Given the description of an element on the screen output the (x, y) to click on. 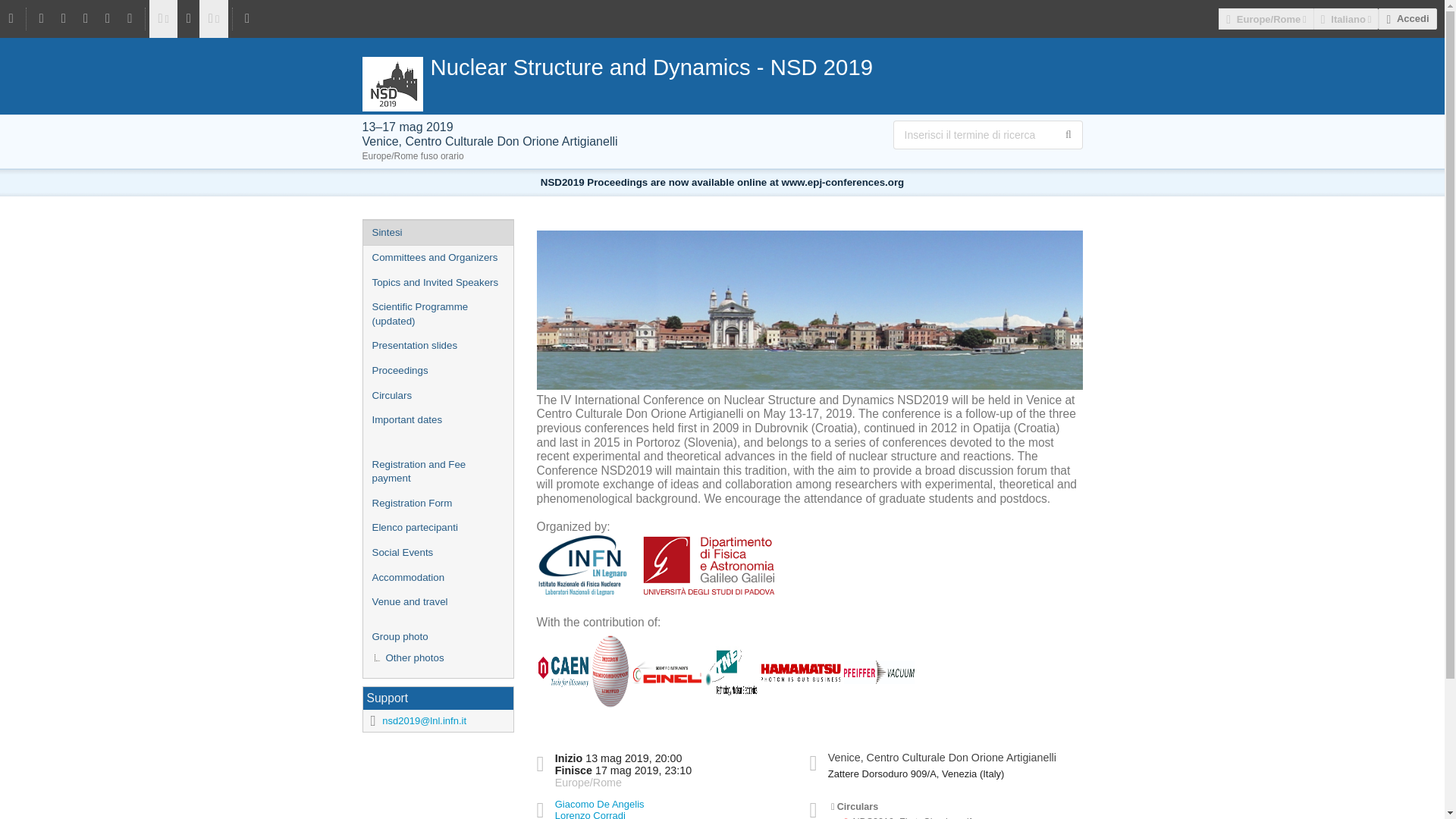
Effettuare il login per vedere il loro indirizzo email (590, 814)
Italiano (1345, 19)
Presentation slides (437, 345)
Topics and Invited Speakers (437, 283)
Nuclear Structure and Dynamics - NSD 2019 (722, 67)
Sintesi (437, 232)
Accedi (1406, 19)
Committees and Organizers (437, 258)
Effettuare il login per vedere il loro indirizzo email (599, 803)
